Given the description of an element on the screen output the (x, y) to click on. 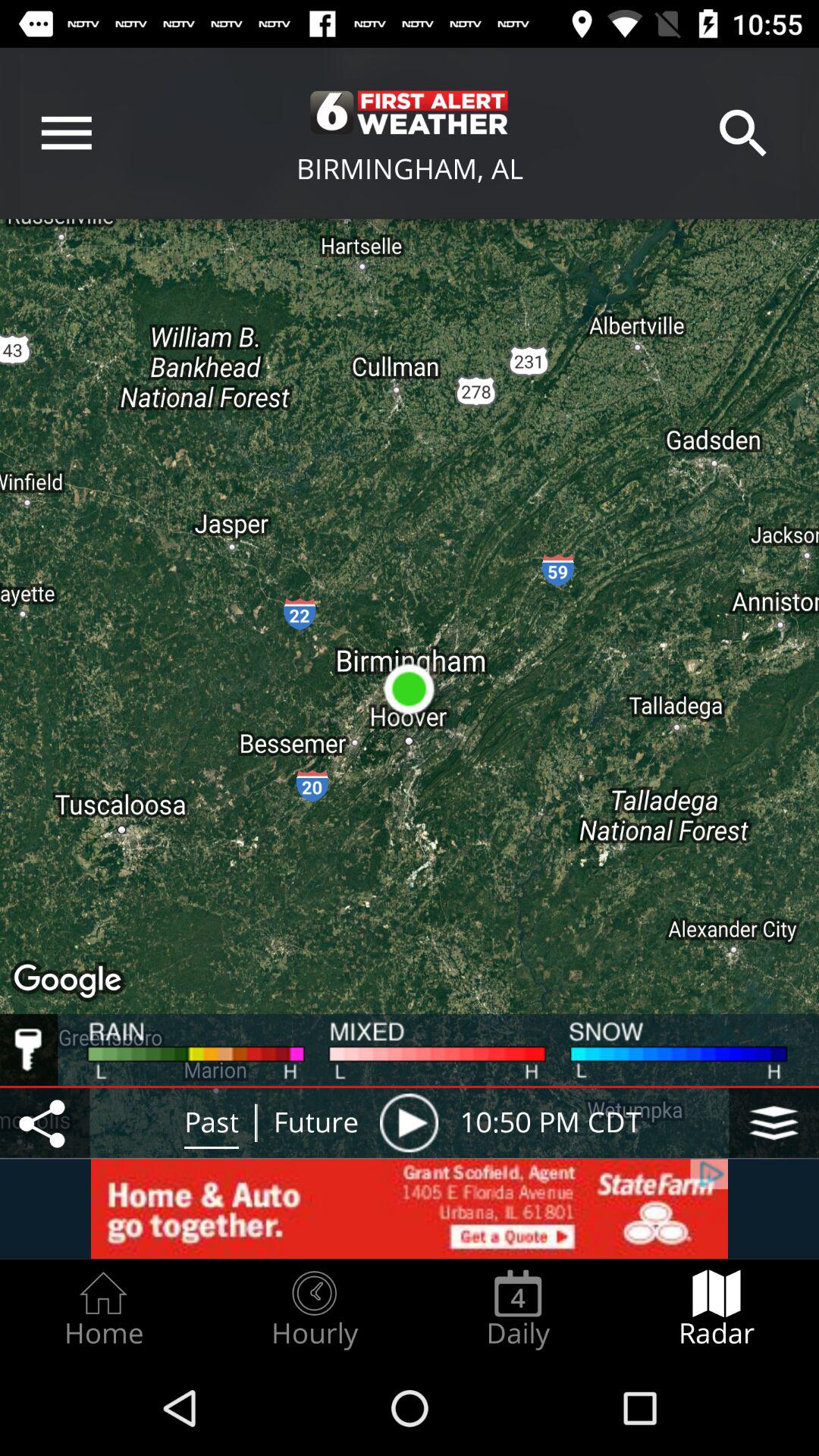
launch the item to the right of the future item (409, 1122)
